Given the description of an element on the screen output the (x, y) to click on. 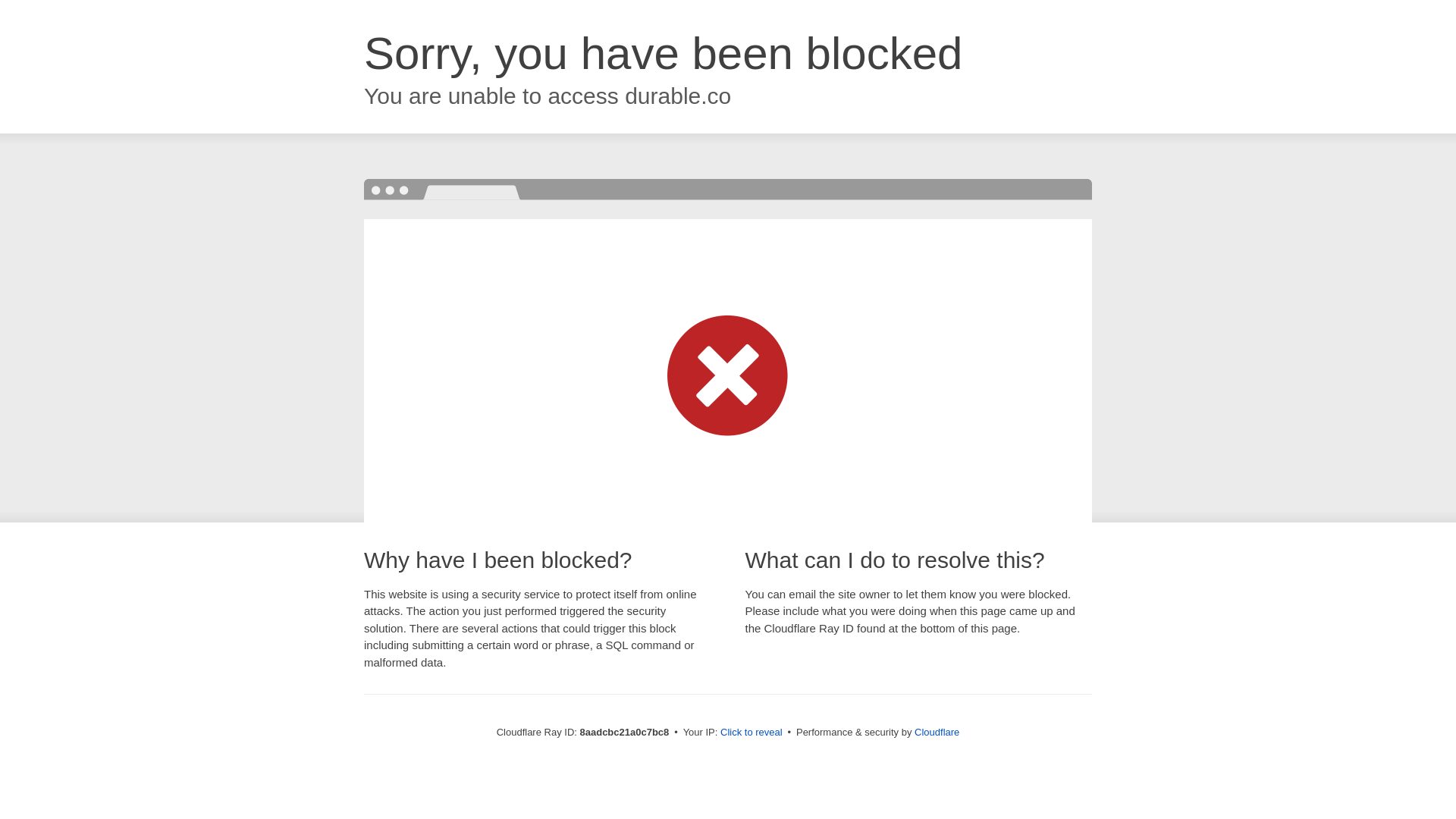
Cloudflare (936, 731)
Click to reveal (751, 732)
